Given the description of an element on the screen output the (x, y) to click on. 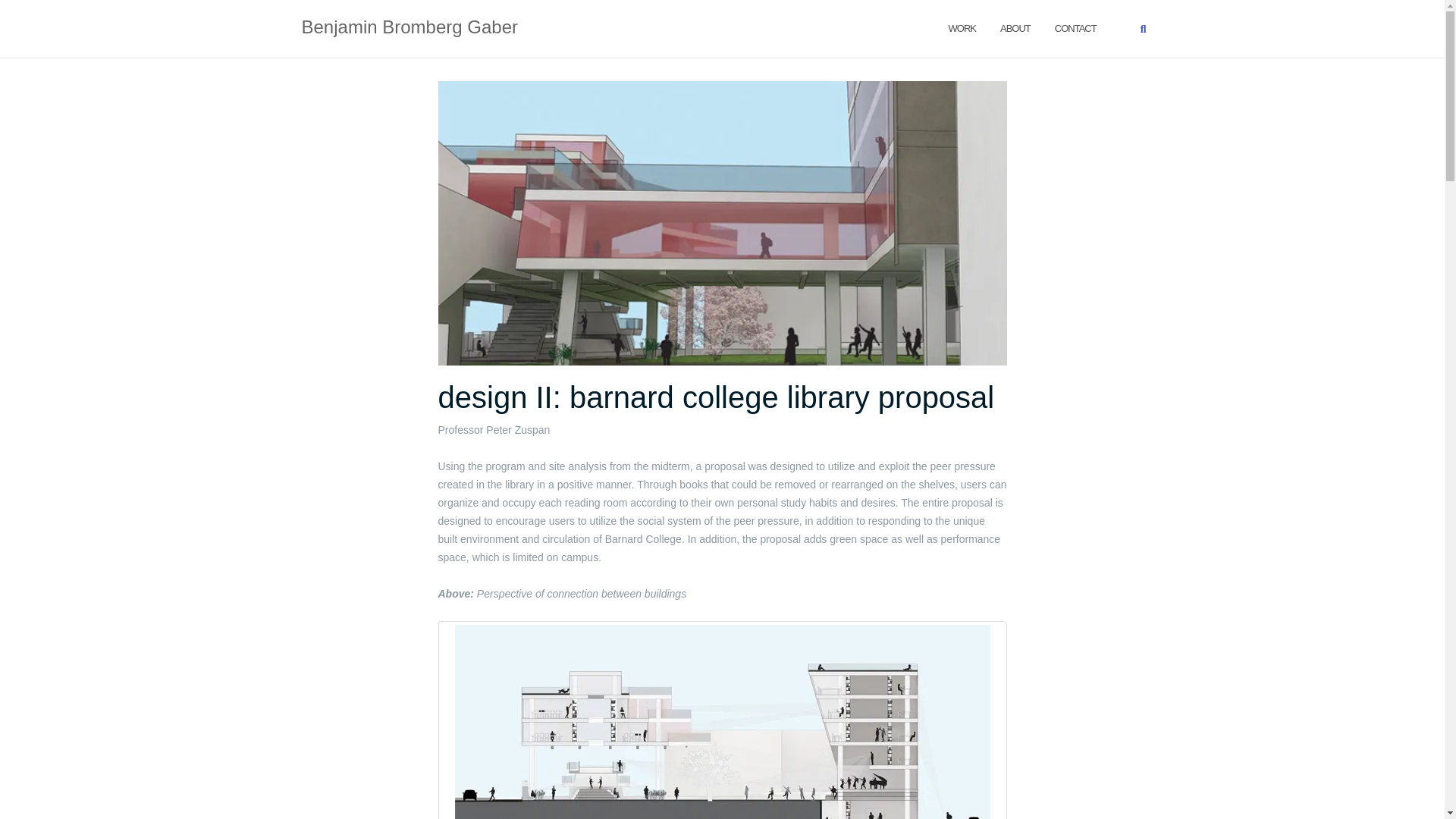
contact (1075, 28)
design II: barnard college library proposal (716, 397)
Benjamin Bromberg Gaber (409, 28)
CONTACT (1075, 28)
